Given the description of an element on the screen output the (x, y) to click on. 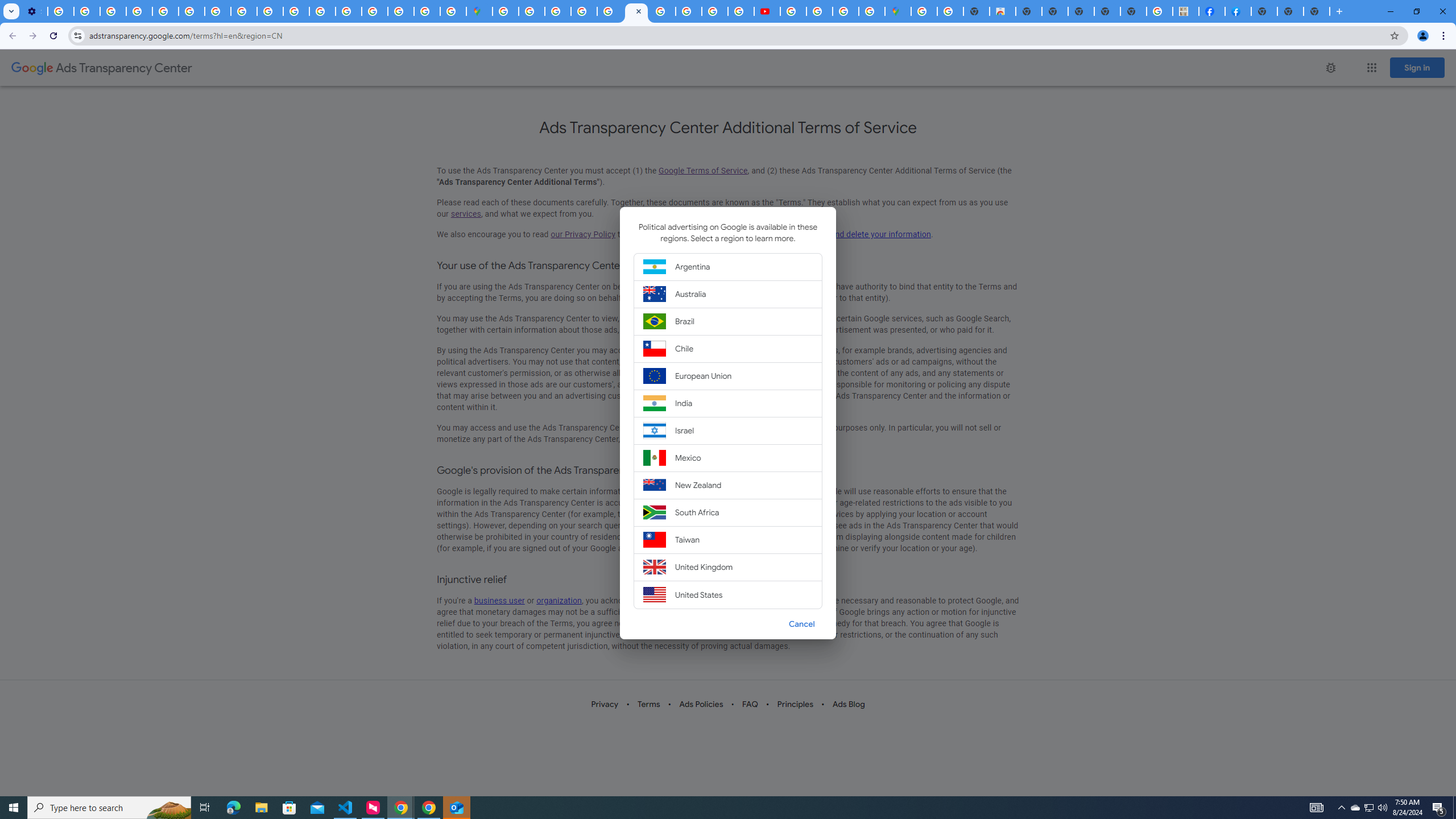
Australia (727, 293)
organization (558, 601)
Go to Ads Transparency Center home page. (101, 68)
Google Maps (897, 11)
Settings - Customize profile (34, 11)
Blogger Policies and Guidelines - Transparency Center (663, 11)
Learn how to find your photos - Google Photos Help (86, 11)
Mexico (727, 457)
Google Terms of Service (703, 171)
Sign Up for Facebook (1238, 11)
